Given the description of an element on the screen output the (x, y) to click on. 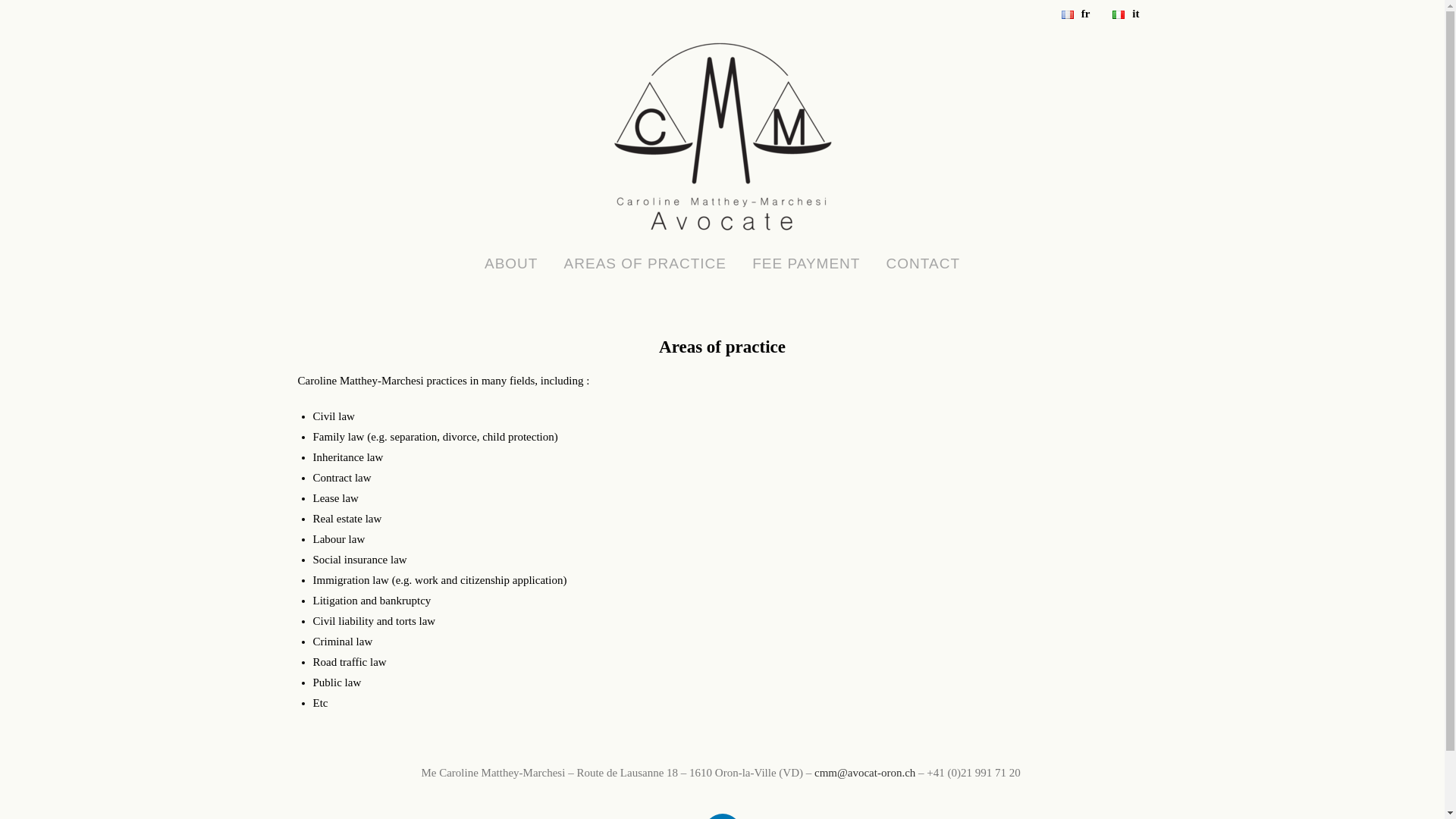
it Element type: text (1121, 13)
FEE PAYMENT Element type: text (805, 263)
ABOUT Element type: text (511, 263)
cmm@avocat-oron.ch Element type: text (864, 772)
CONTACT Element type: text (923, 263)
AREAS OF PRACTICE Element type: text (644, 263)
fr Element type: text (1072, 13)
